Given the description of an element on the screen output the (x, y) to click on. 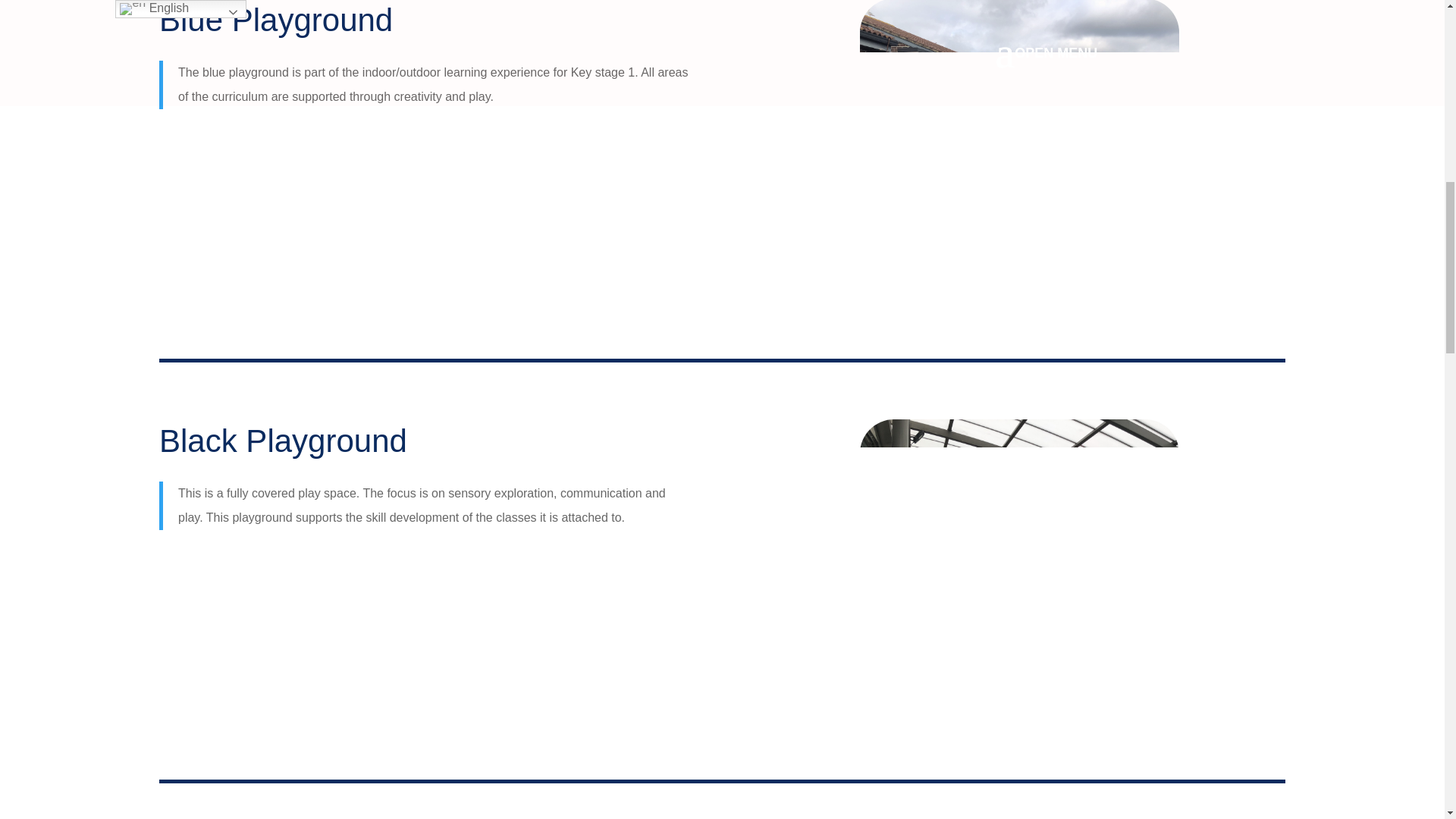
Black-playground (1019, 578)
blue (1019, 158)
